Given the description of an element on the screen output the (x, y) to click on. 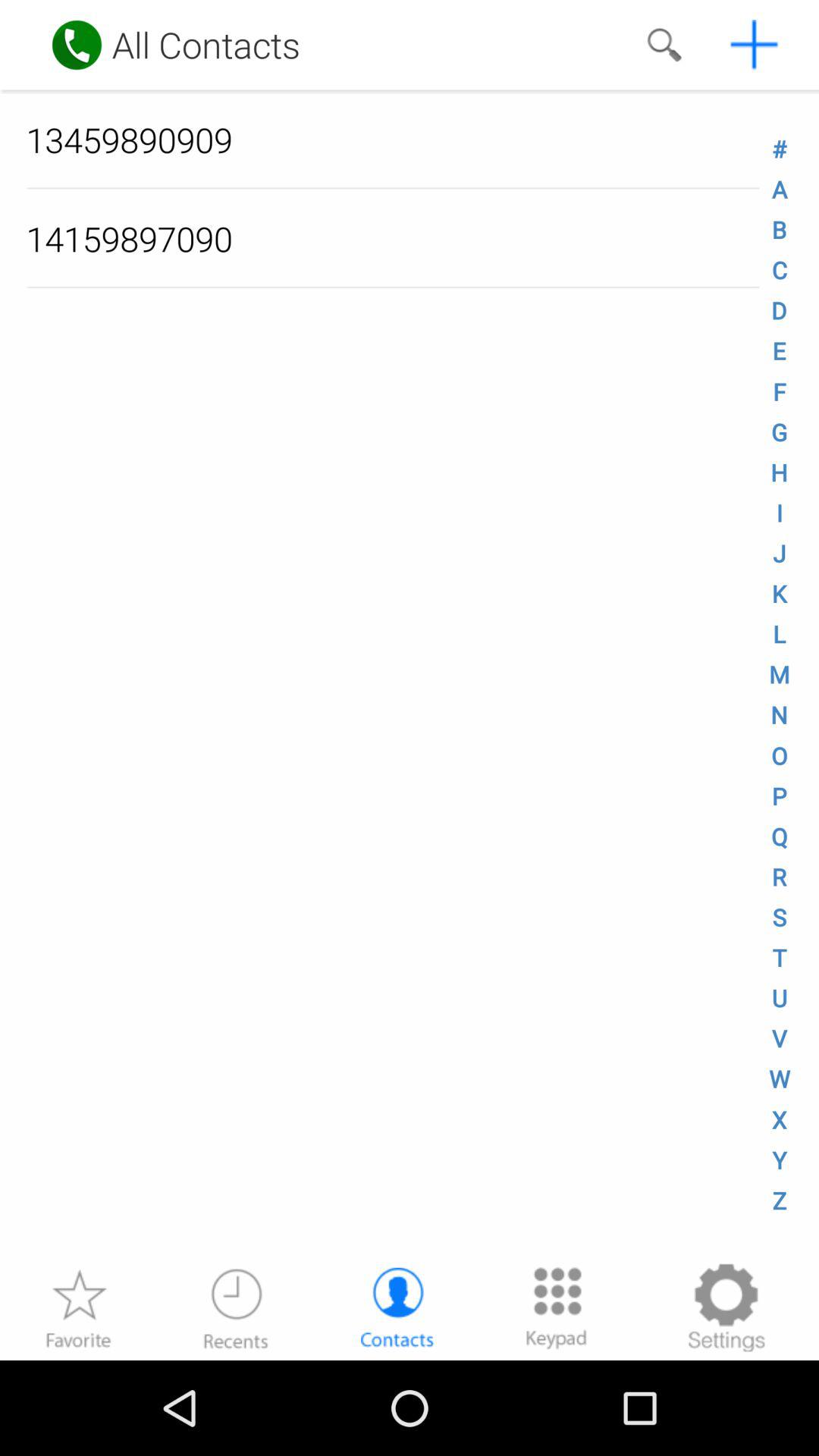
clock page (235, 1307)
